Given the description of an element on the screen output the (x, y) to click on. 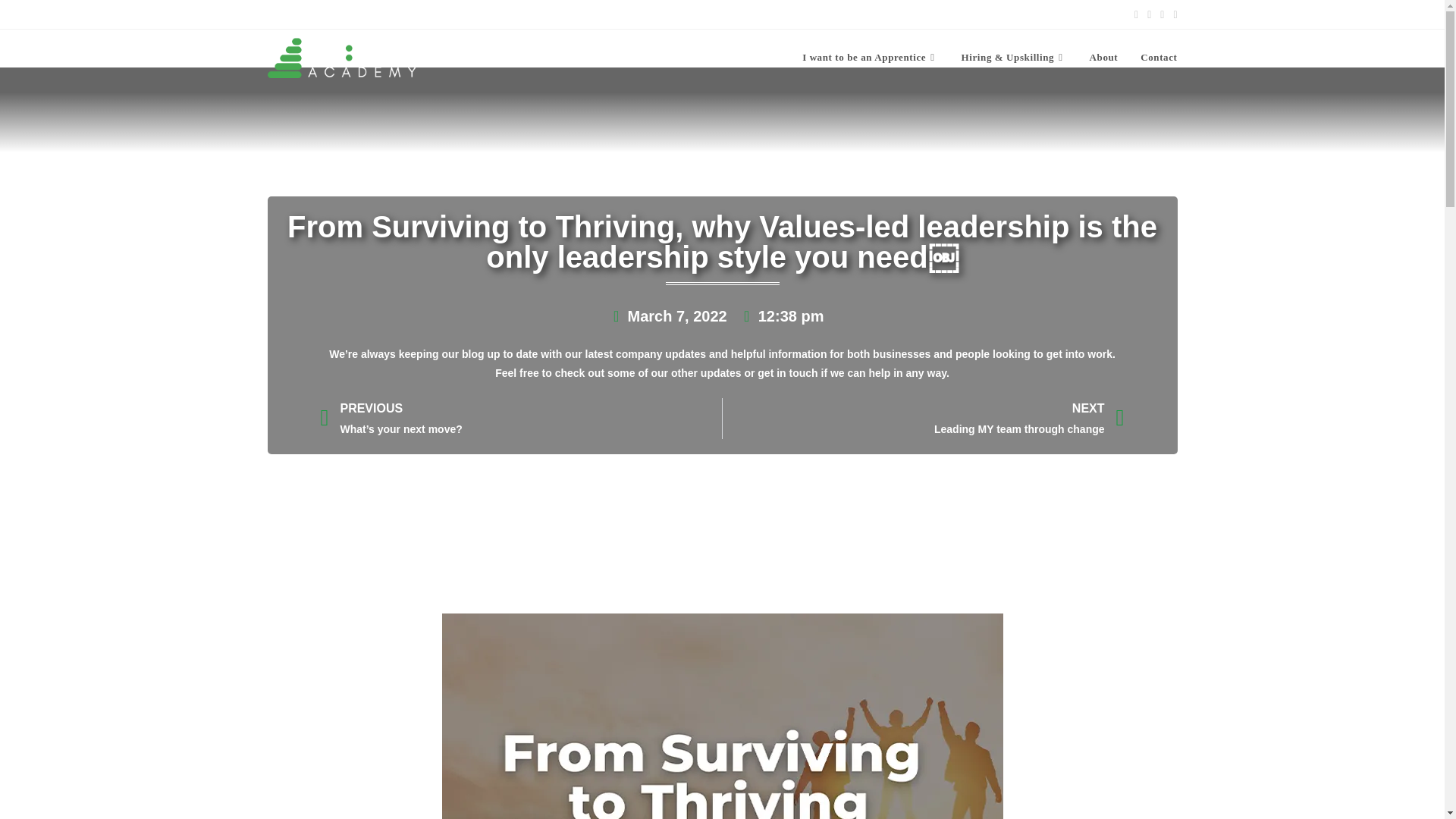
I want to be an Apprentice (869, 57)
March 7, 2022 (667, 316)
About (1103, 57)
Contact (1158, 57)
0191 4661024 (300, 13)
